Given the description of an element on the screen output the (x, y) to click on. 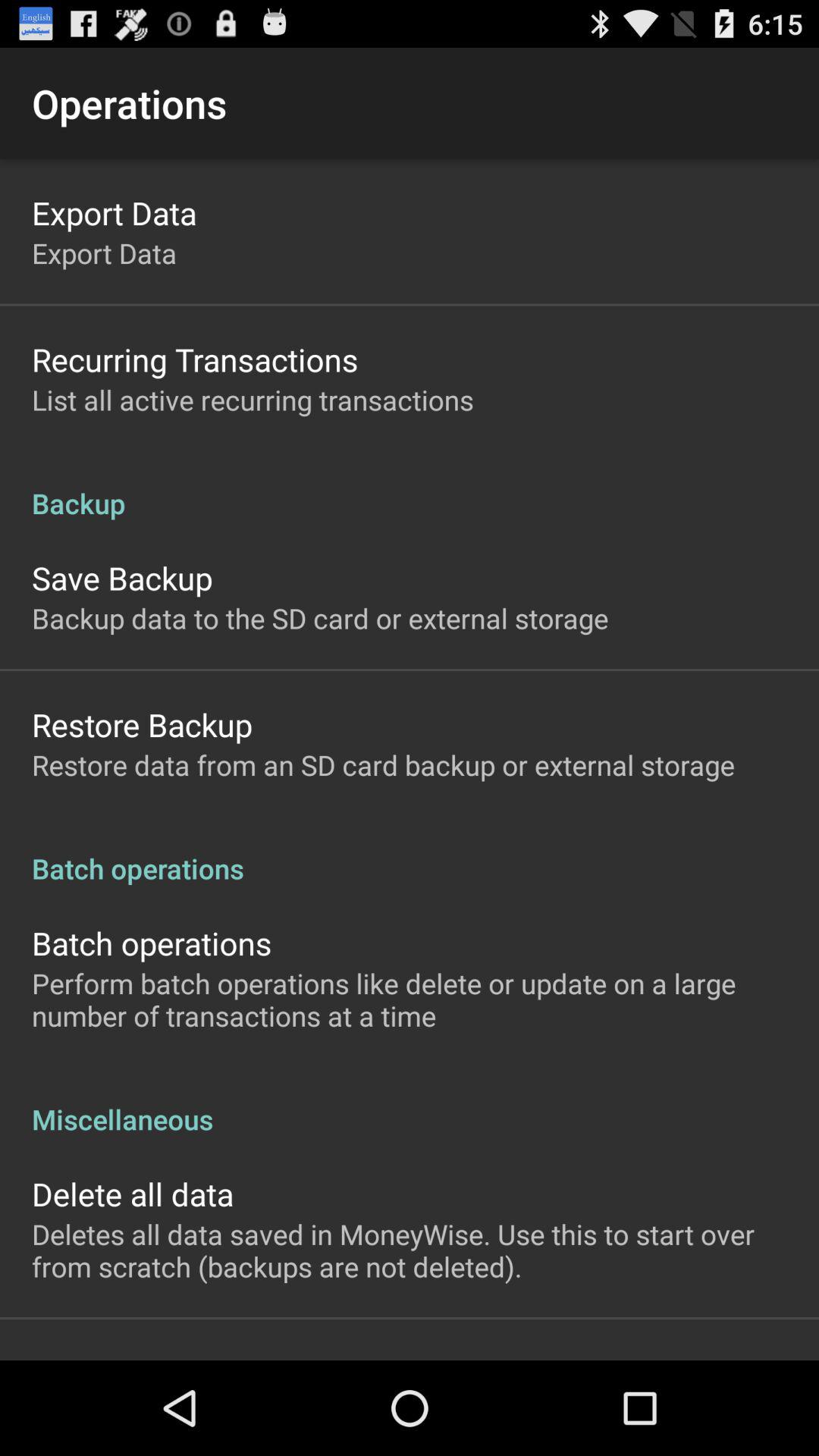
tap app below the perform batch operations icon (409, 1103)
